Given the description of an element on the screen output the (x, y) to click on. 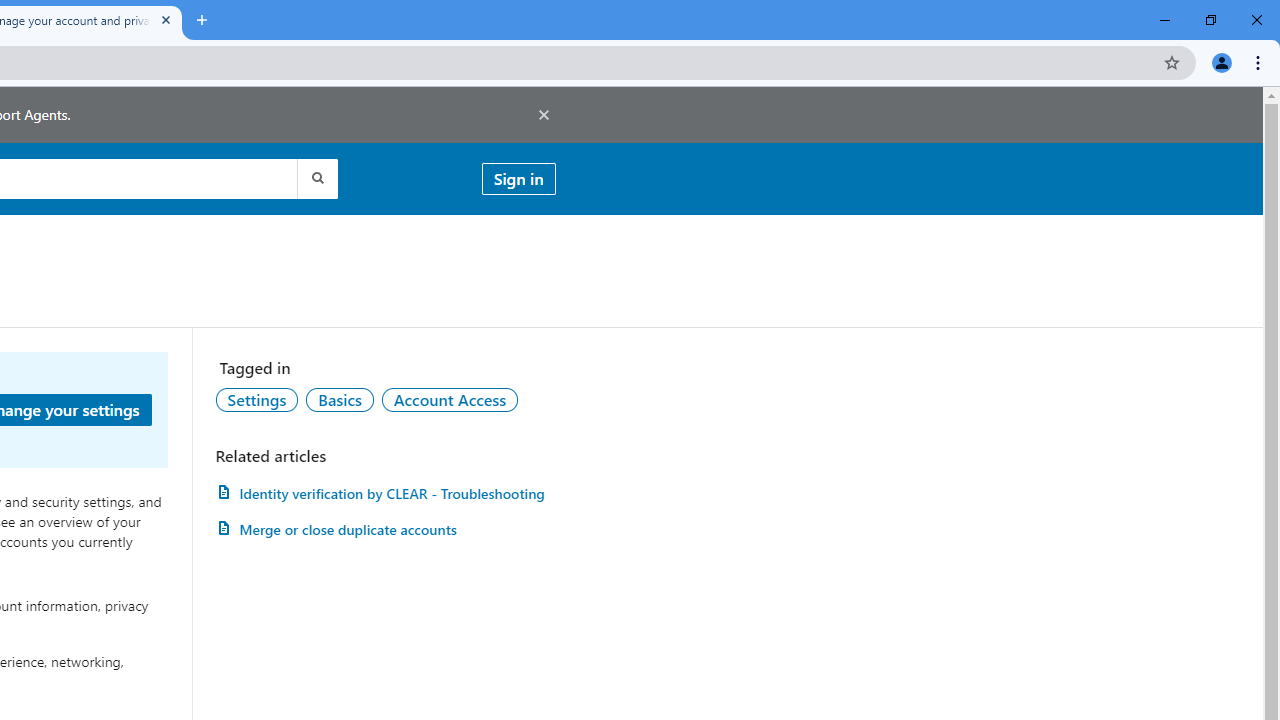
AutomationID: article-link-a1457505 (385, 493)
Submit search (316, 178)
AutomationID: topic-link-a151002 (449, 399)
AutomationID: article-link-a1337200 (385, 529)
AutomationID: topic-link-a51 (339, 399)
AutomationID: topic-link-a149001 (257, 399)
Basics (339, 399)
Merge or close duplicate accounts (385, 529)
